Given the description of an element on the screen output the (x, y) to click on. 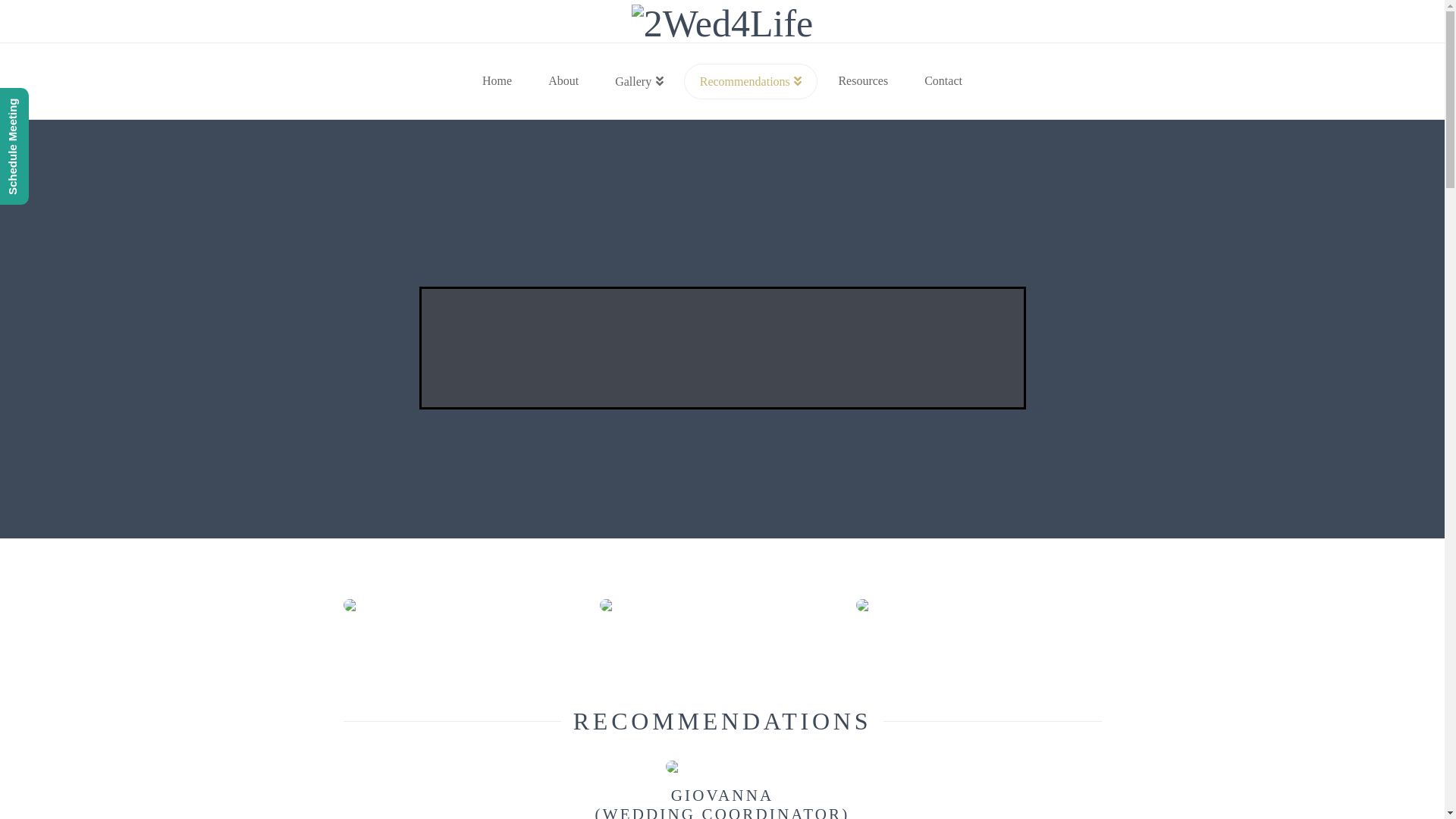
Home Element type: text (497, 81)
Contact Element type: text (943, 81)
Recommendations Element type: text (750, 81)
Resources Element type: text (862, 81)
About Element type: text (563, 81)
Gallery Element type: text (638, 81)
